Given the description of an element on the screen output the (x, y) to click on. 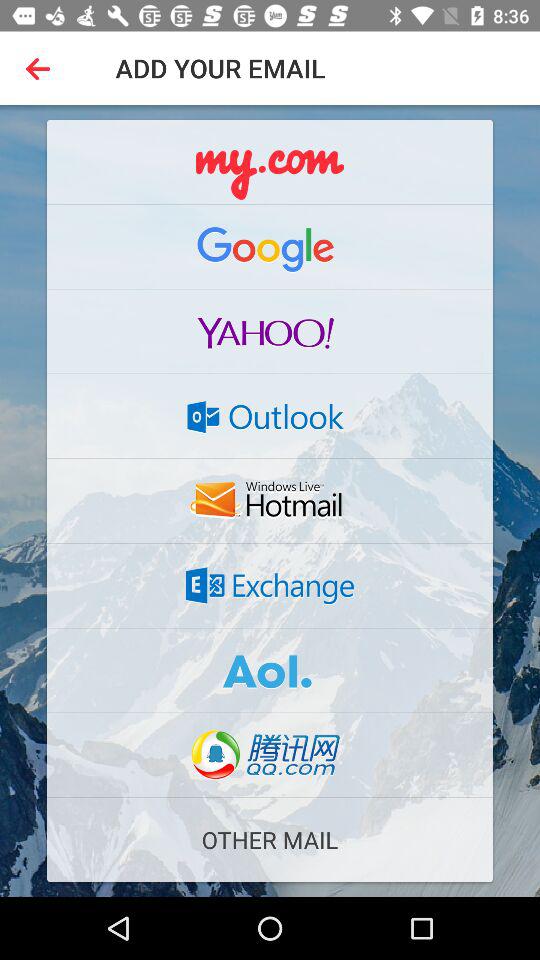
add exchange email (269, 585)
